Given the description of an element on the screen output the (x, y) to click on. 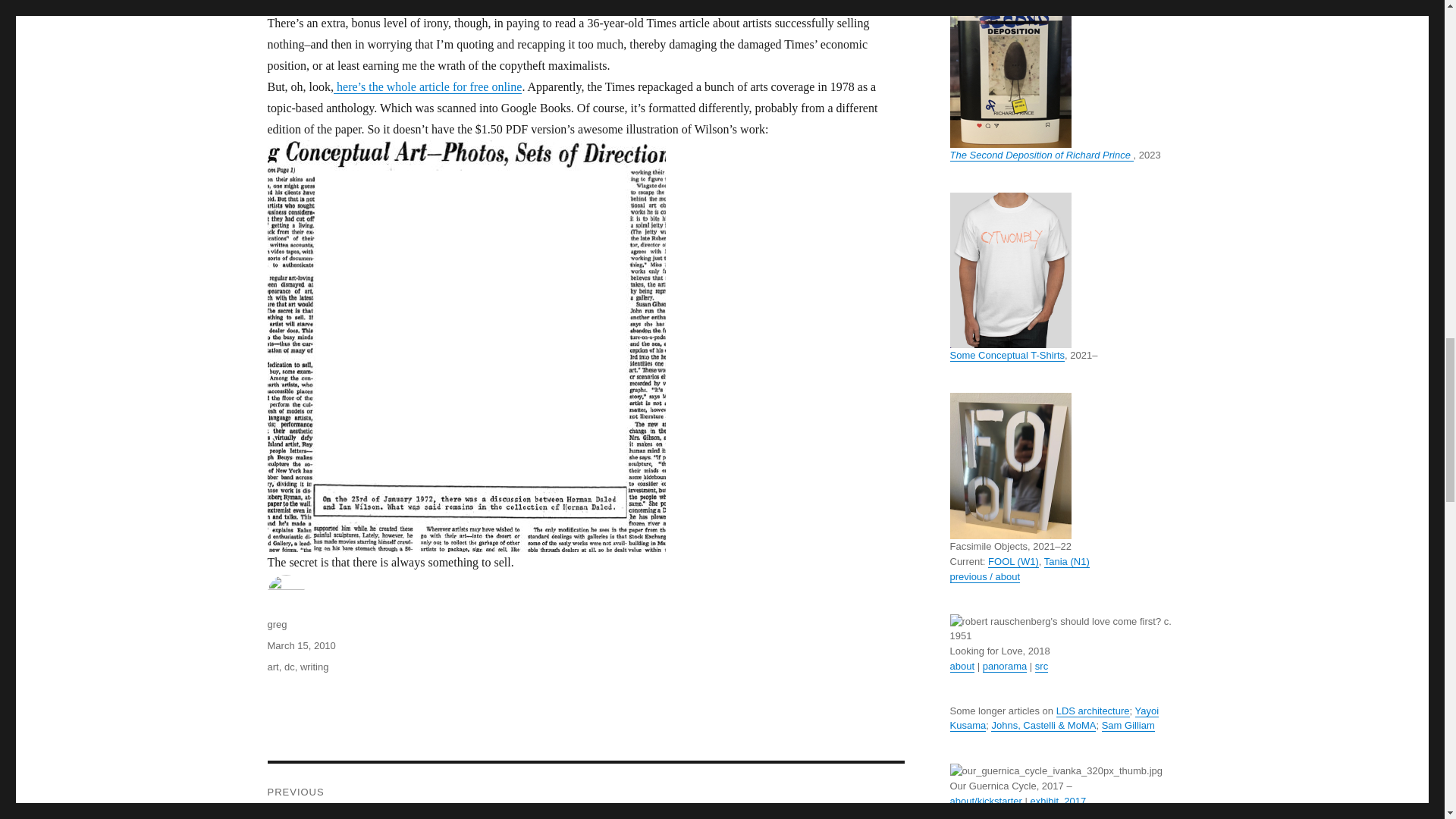
exhibit, 2017 (1057, 800)
March 15, 2010 (300, 645)
greg (276, 624)
Yayoi Kusama (1053, 718)
writing (314, 666)
LDS architecture (1093, 710)
Some Conceptual T-Shirts (1006, 355)
panorama (1004, 665)
art (272, 666)
The Second Deposition of Richard Prince (1040, 154)
about (961, 665)
Sam Gilliam (1128, 725)
src (1041, 665)
dc (289, 666)
